Given the description of an element on the screen output the (x, y) to click on. 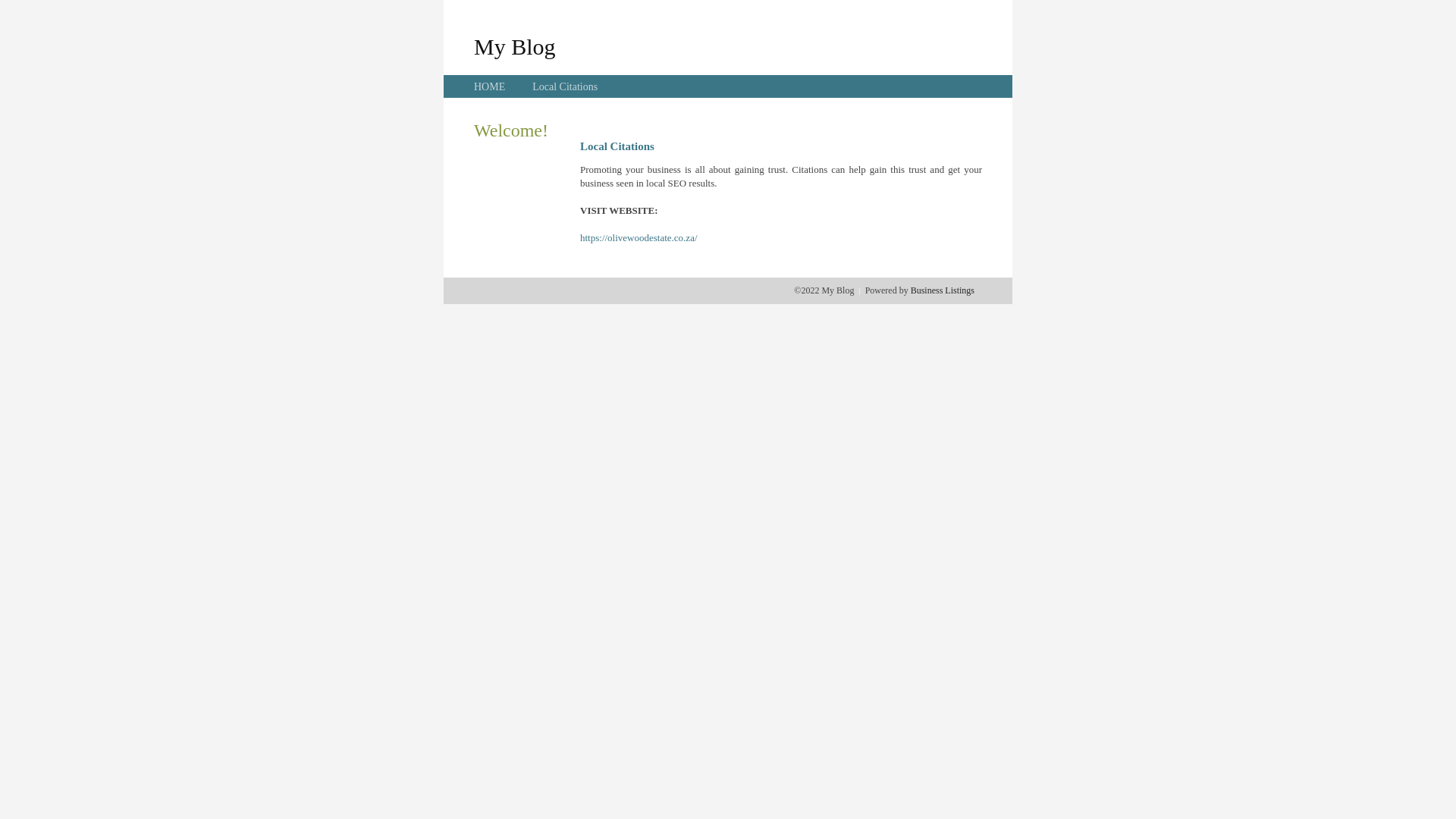
Local Citations Element type: text (564, 86)
My Blog Element type: text (514, 46)
Business Listings Element type: text (942, 290)
https://olivewoodestate.co.za/ Element type: text (638, 237)
HOME Element type: text (489, 86)
